Given the description of an element on the screen output the (x, y) to click on. 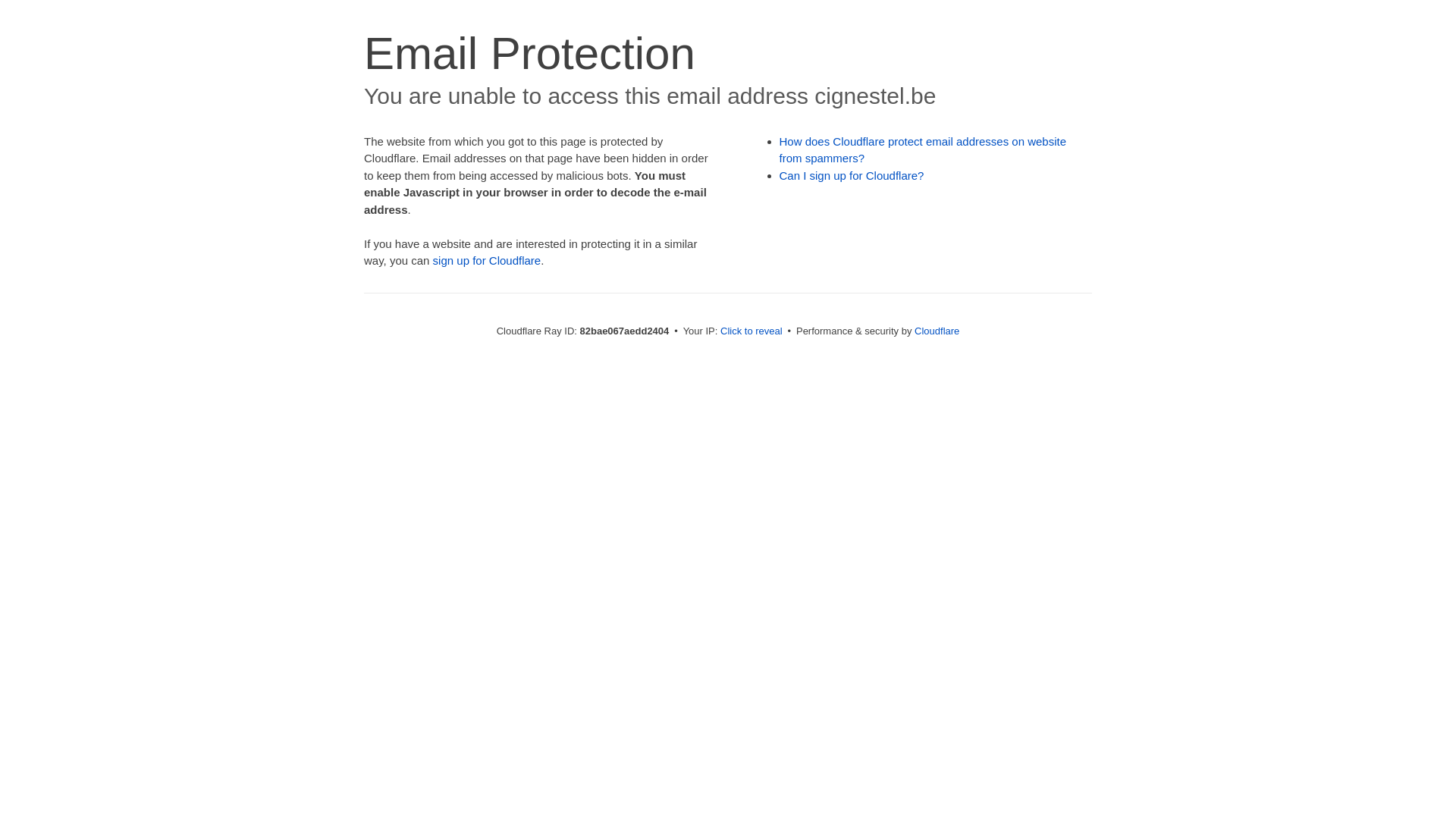
sign up for Cloudflare Element type: text (487, 260)
Can I sign up for Cloudflare? Element type: text (851, 175)
Click to reveal Element type: text (751, 330)
Cloudflare Element type: text (936, 330)
